Given the description of an element on the screen output the (x, y) to click on. 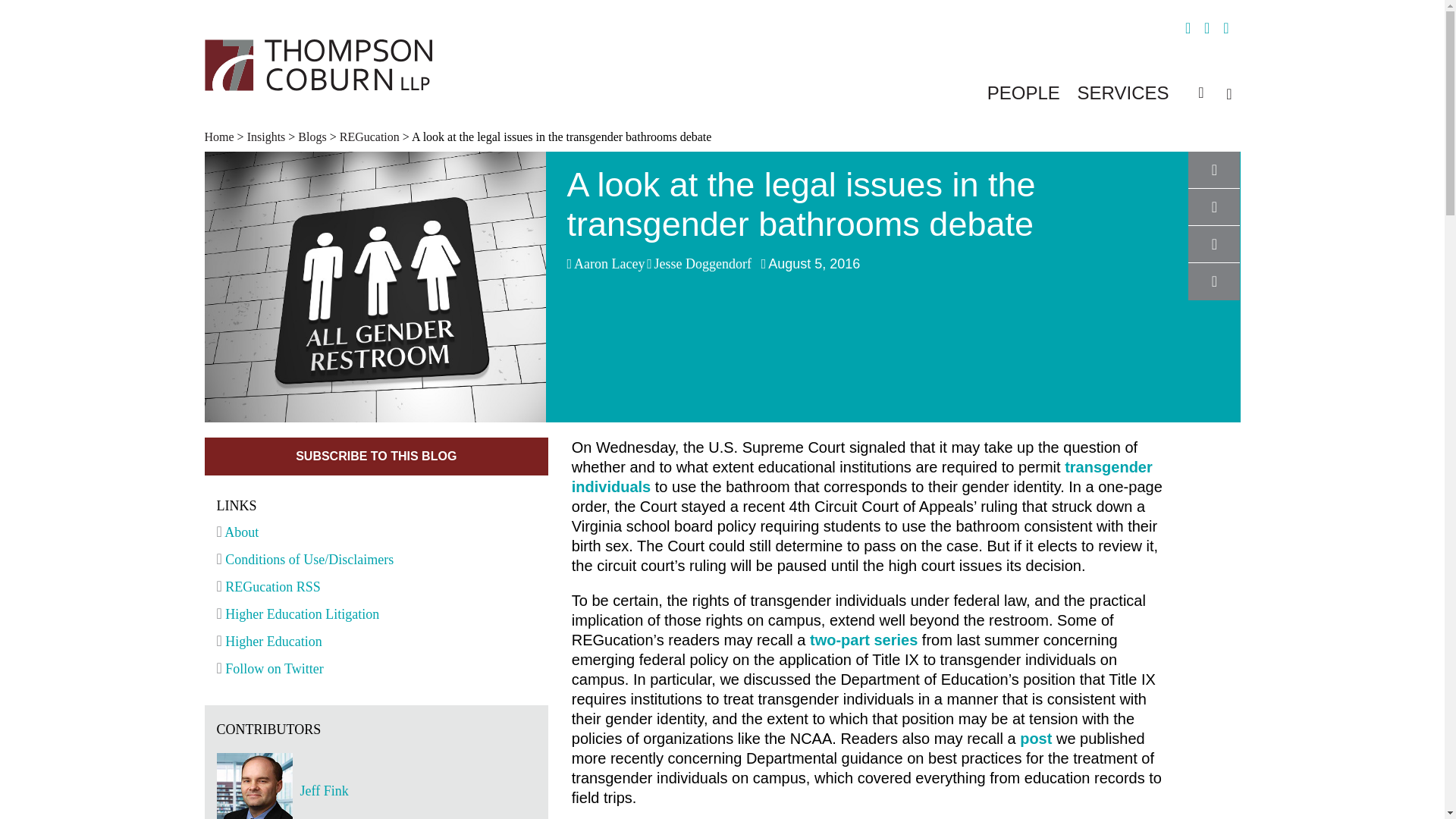
REGucation RSS (268, 586)
Home (221, 136)
Aaron Lacey (609, 263)
Jesse Doggendorf (702, 263)
REGucation (368, 136)
Jeff Fink (416, 790)
SERVICES (1123, 92)
Higher Education (268, 641)
Blogs (312, 136)
PEOPLE (1023, 92)
